Given the description of an element on the screen output the (x, y) to click on. 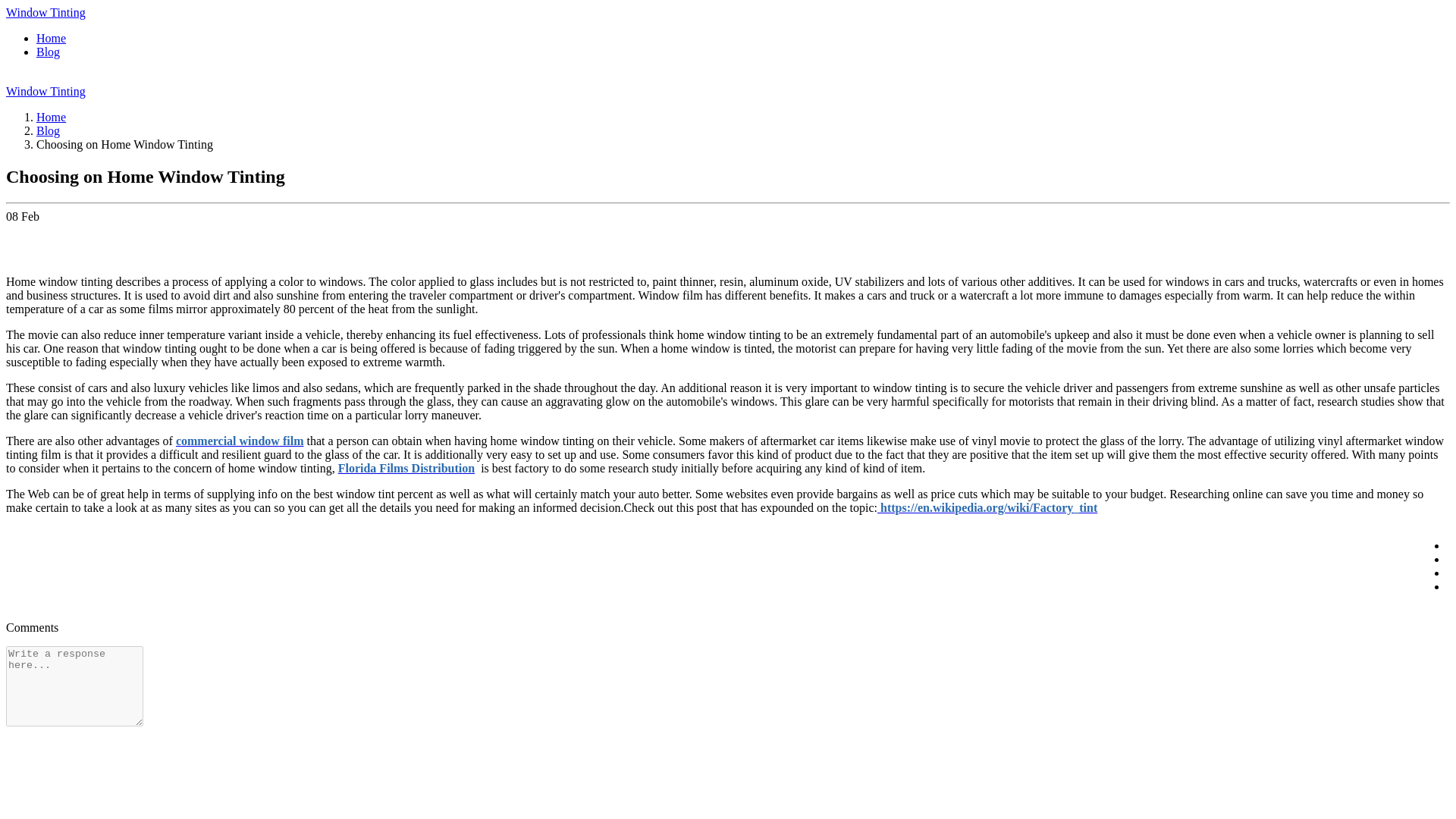
Blog (47, 51)
Window Tinting (45, 11)
Blog (47, 130)
Home (50, 38)
Florida Films Distribution (405, 468)
Home (50, 116)
commercial window film (240, 440)
Window Tinting (45, 91)
